Given the description of an element on the screen output the (x, y) to click on. 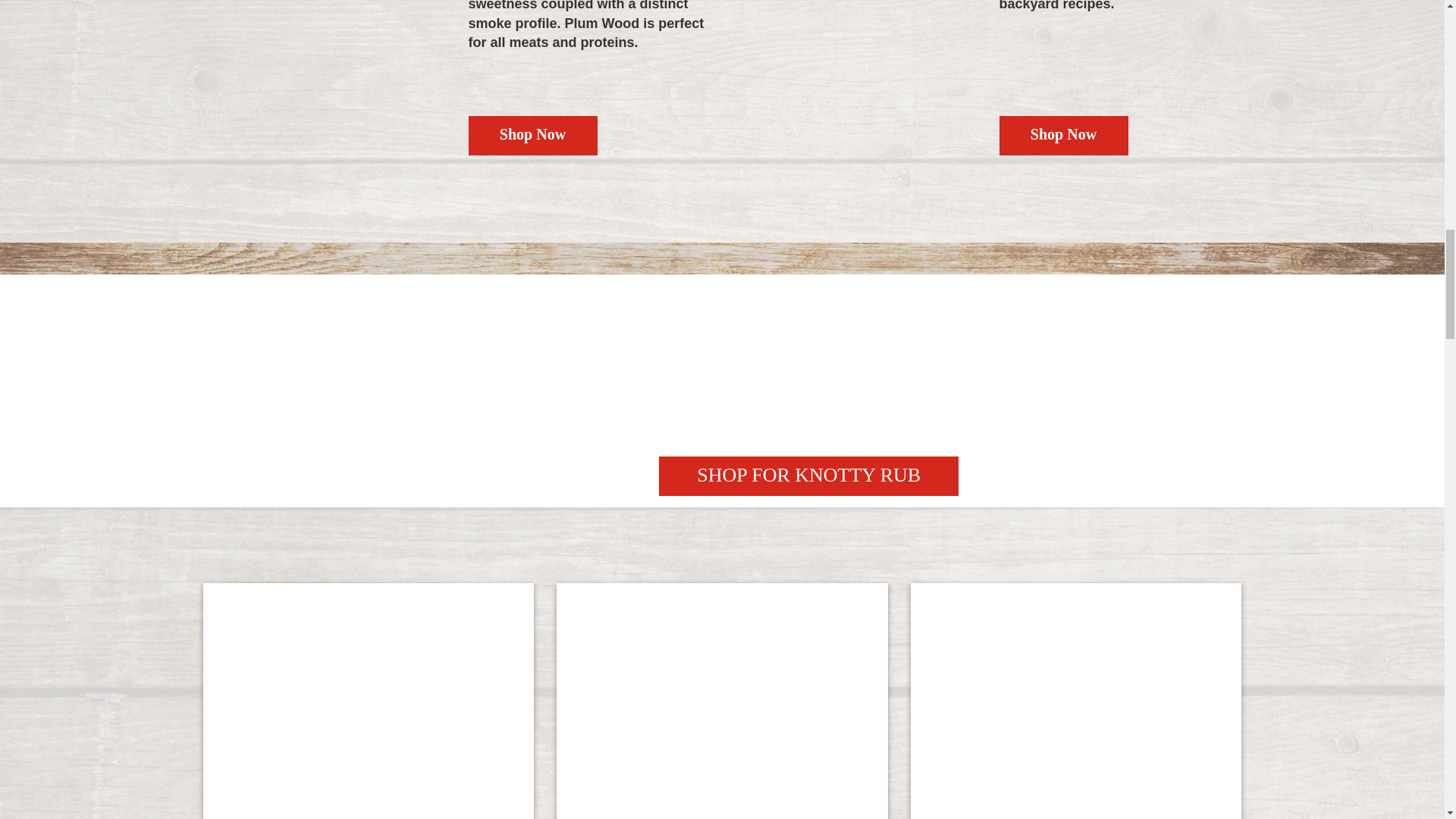
SHOP FOR KNOTTY RUB (808, 476)
Shop Now (1063, 136)
Shop Now (532, 136)
